Given the description of an element on the screen output the (x, y) to click on. 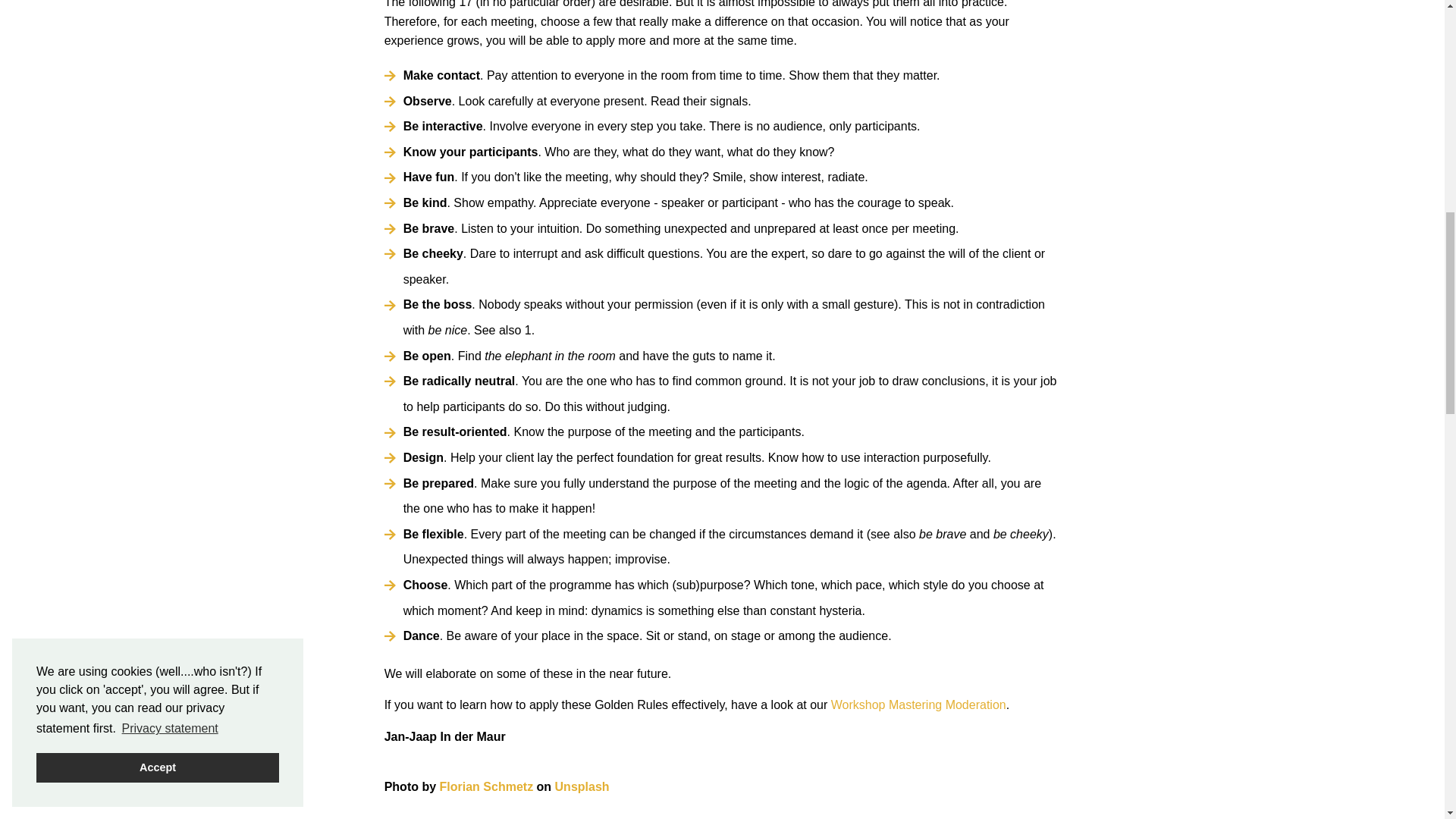
Unsplash (582, 786)
Workshop Mastering Moderation (918, 704)
Florian Schmetz (486, 786)
